Given the description of an element on the screen output the (x, y) to click on. 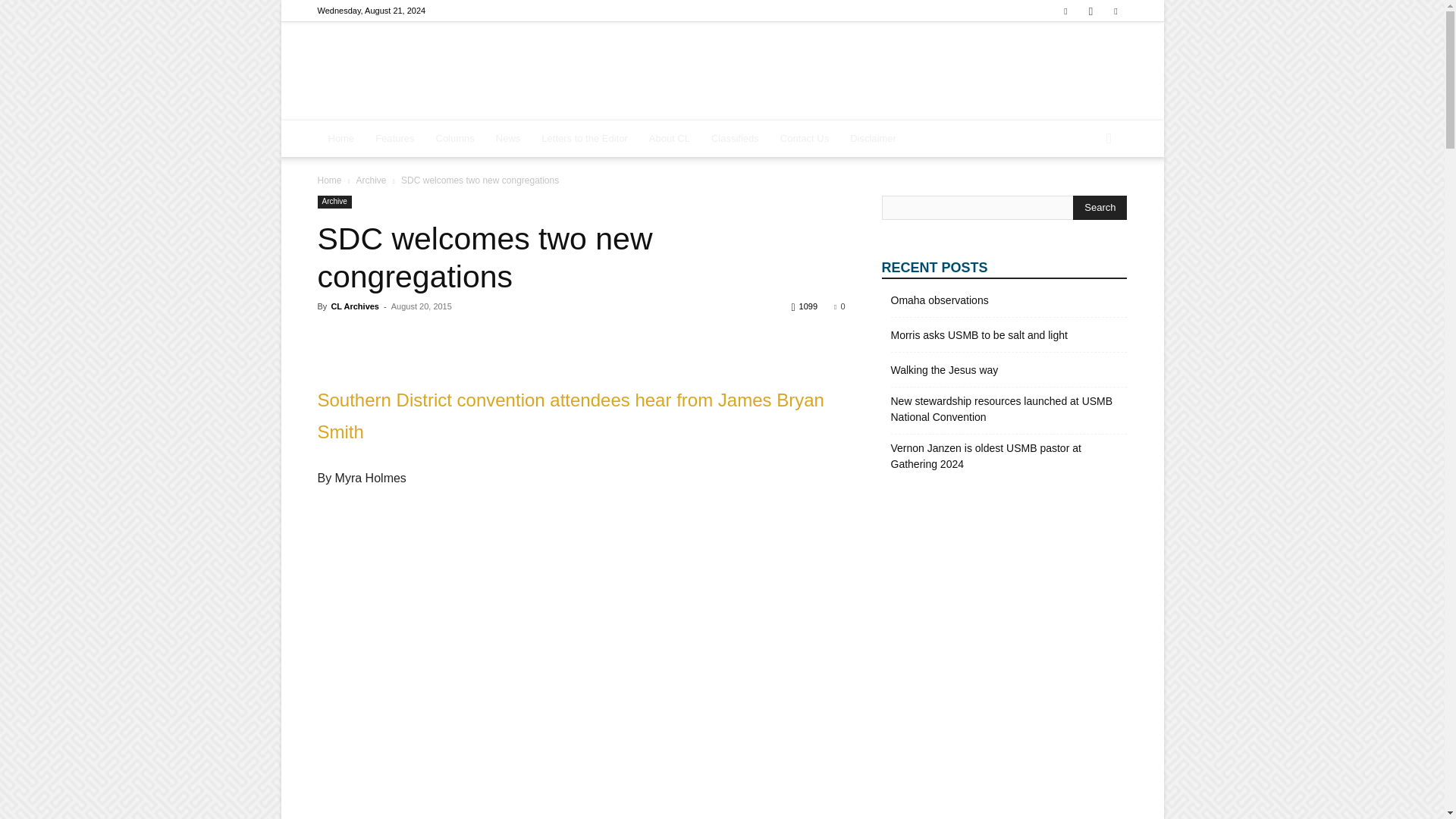
Twitter (1114, 10)
Instagram (1090, 10)
Search (1099, 207)
Facebook (1065, 10)
